Given the description of an element on the screen output the (x, y) to click on. 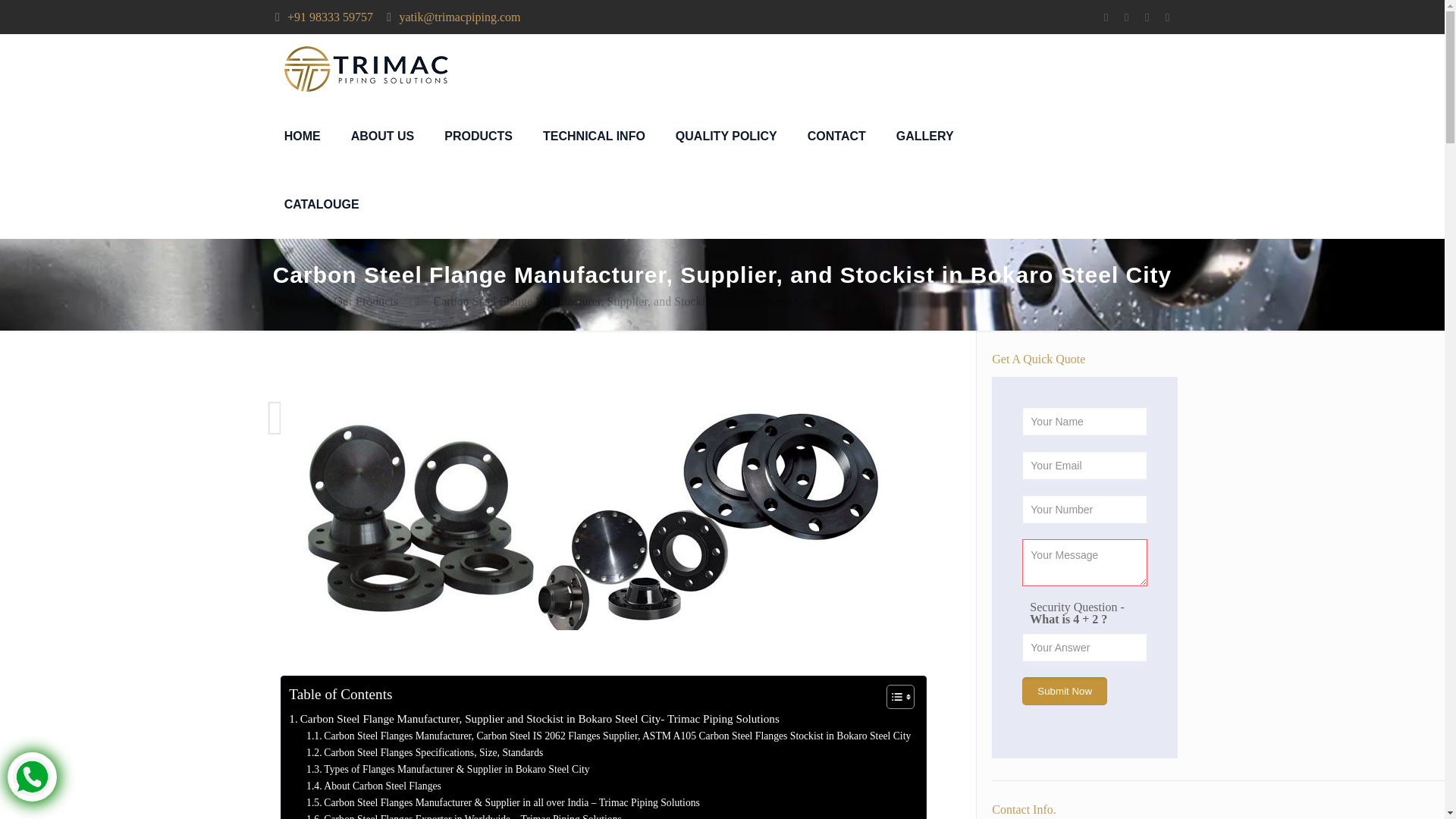
Twitter (1126, 17)
ABOUT US (382, 136)
Trimac Piping Solution (367, 68)
HOME (302, 136)
About Carbon Steel Flanges (373, 786)
Carbon Steel Flanges Specifications, Size, Standards (424, 752)
PRODUCTS (478, 136)
LinkedIn (1146, 17)
Google My Business (1166, 17)
Facebook (1105, 17)
